Given the description of an element on the screen output the (x, y) to click on. 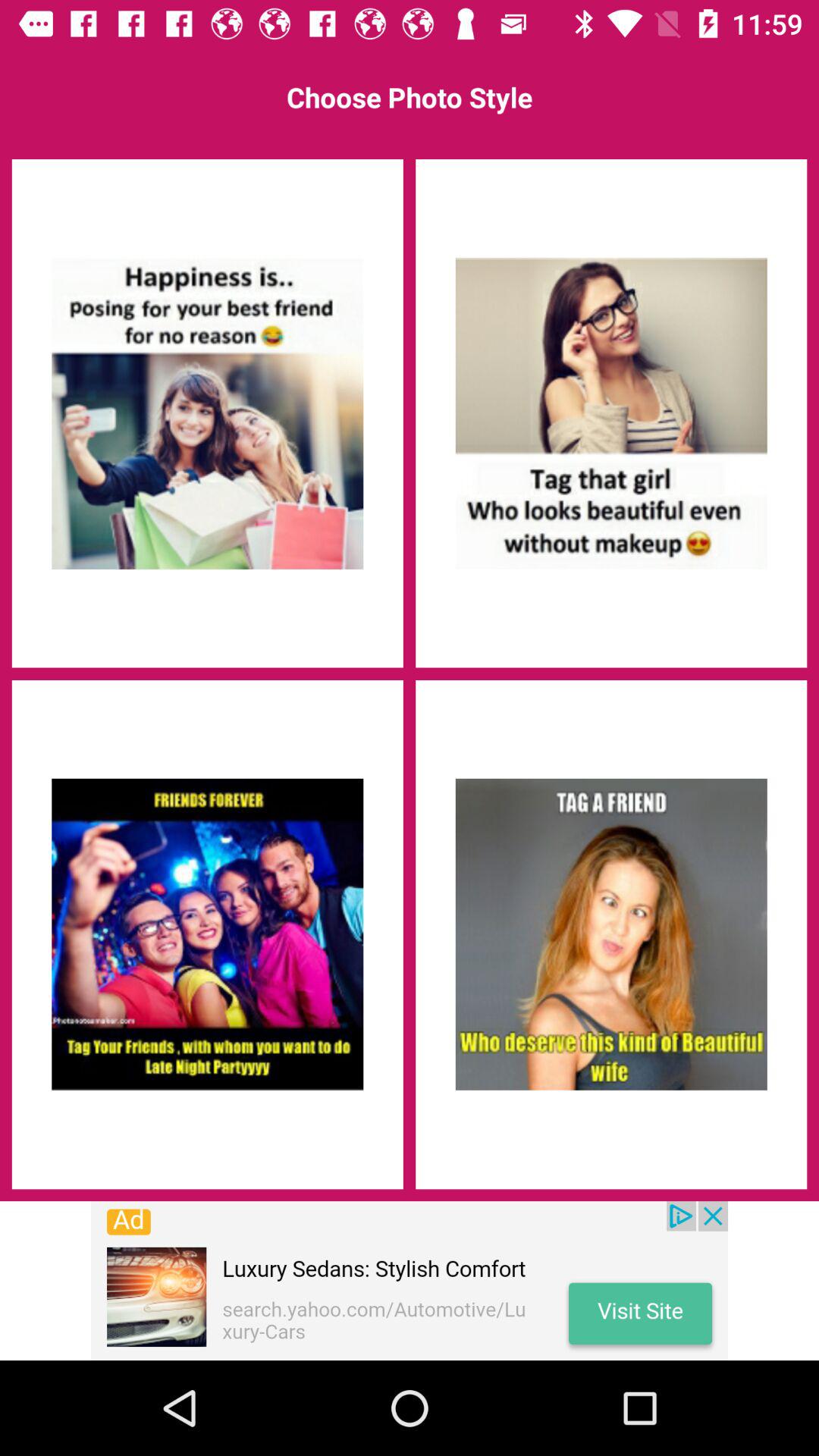
advertisement (409, 1280)
